Given the description of an element on the screen output the (x, y) to click on. 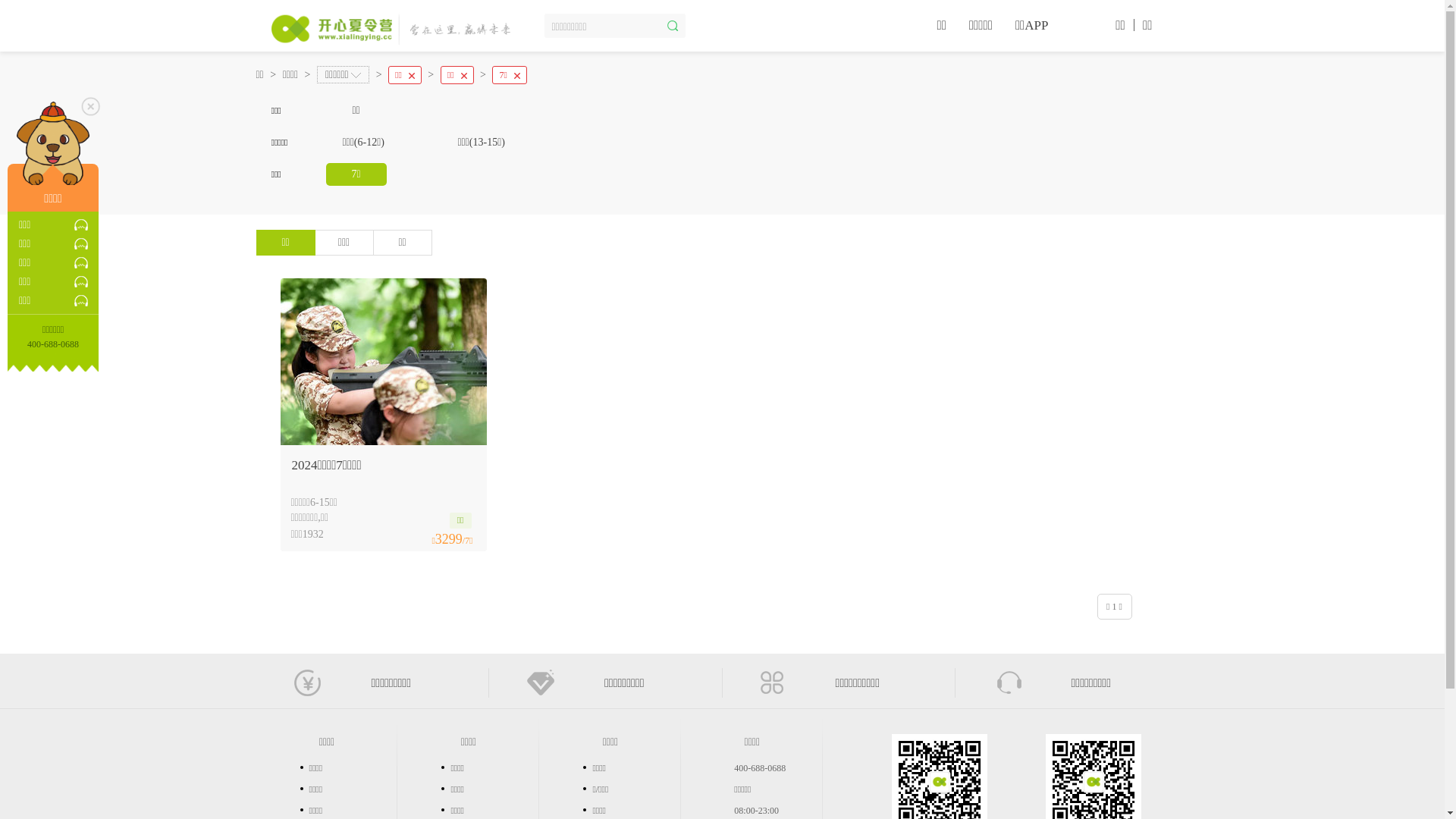
| Element type: text (1133, 24)
08:00-23:00 Element type: text (756, 810)
400-688-0688 Element type: text (759, 767)
